Given the description of an element on the screen output the (x, y) to click on. 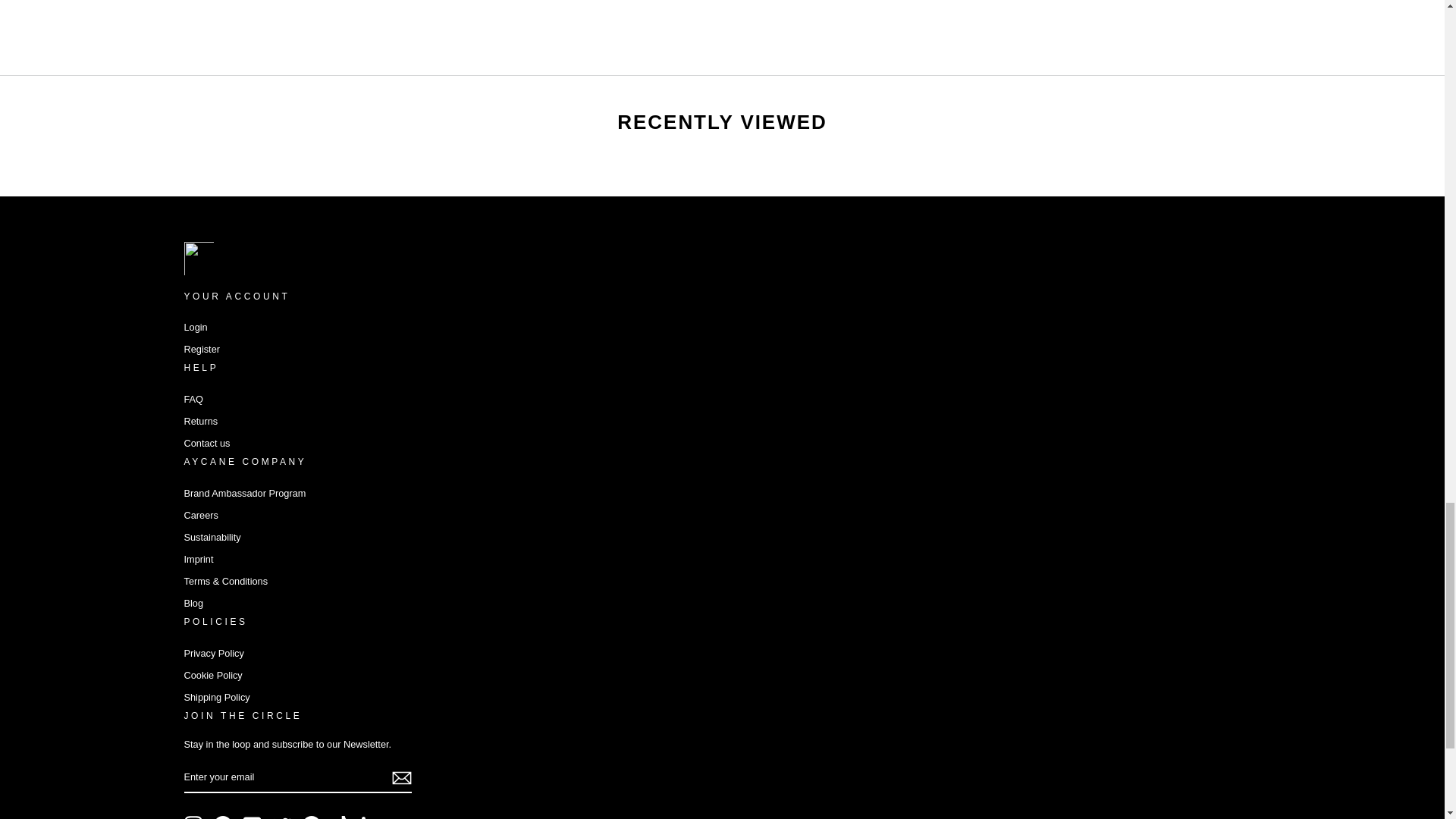
AYCANE on YouTube (251, 817)
AYCANE on Twitter (282, 817)
AYCANE on LinkedIn (369, 817)
AYCANE on Instagram (192, 817)
AYCANE on Facebook (222, 817)
AYCANE on Pinterest (310, 817)
AYCANE on TikTok (340, 817)
